Given the description of an element on the screen output the (x, y) to click on. 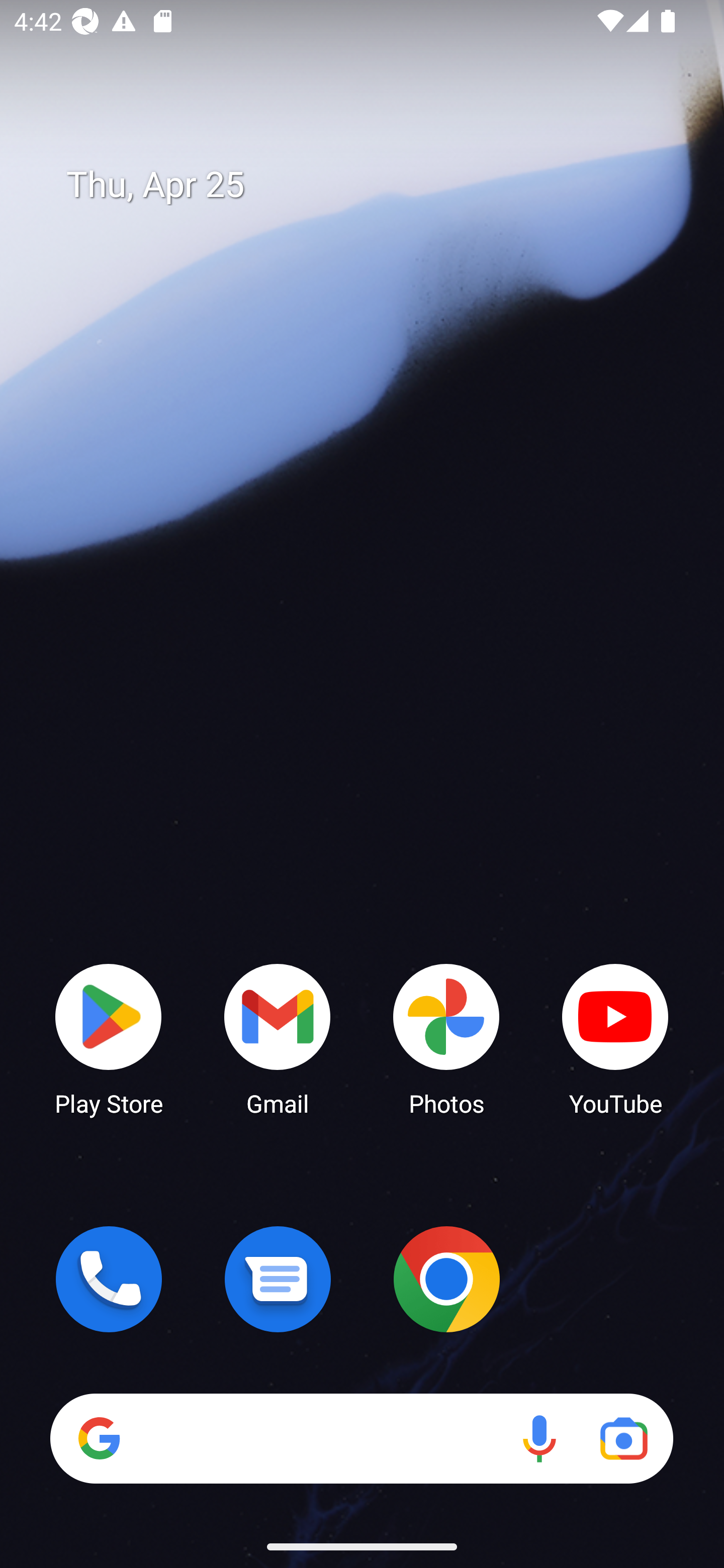
Thu, Apr 25 (375, 184)
Play Store (108, 1038)
Gmail (277, 1038)
Photos (445, 1038)
YouTube (615, 1038)
Phone (108, 1279)
Messages (277, 1279)
Chrome (446, 1279)
Search Voice search Google Lens (361, 1438)
Voice search (539, 1438)
Google Lens (623, 1438)
